Given the description of an element on the screen output the (x, y) to click on. 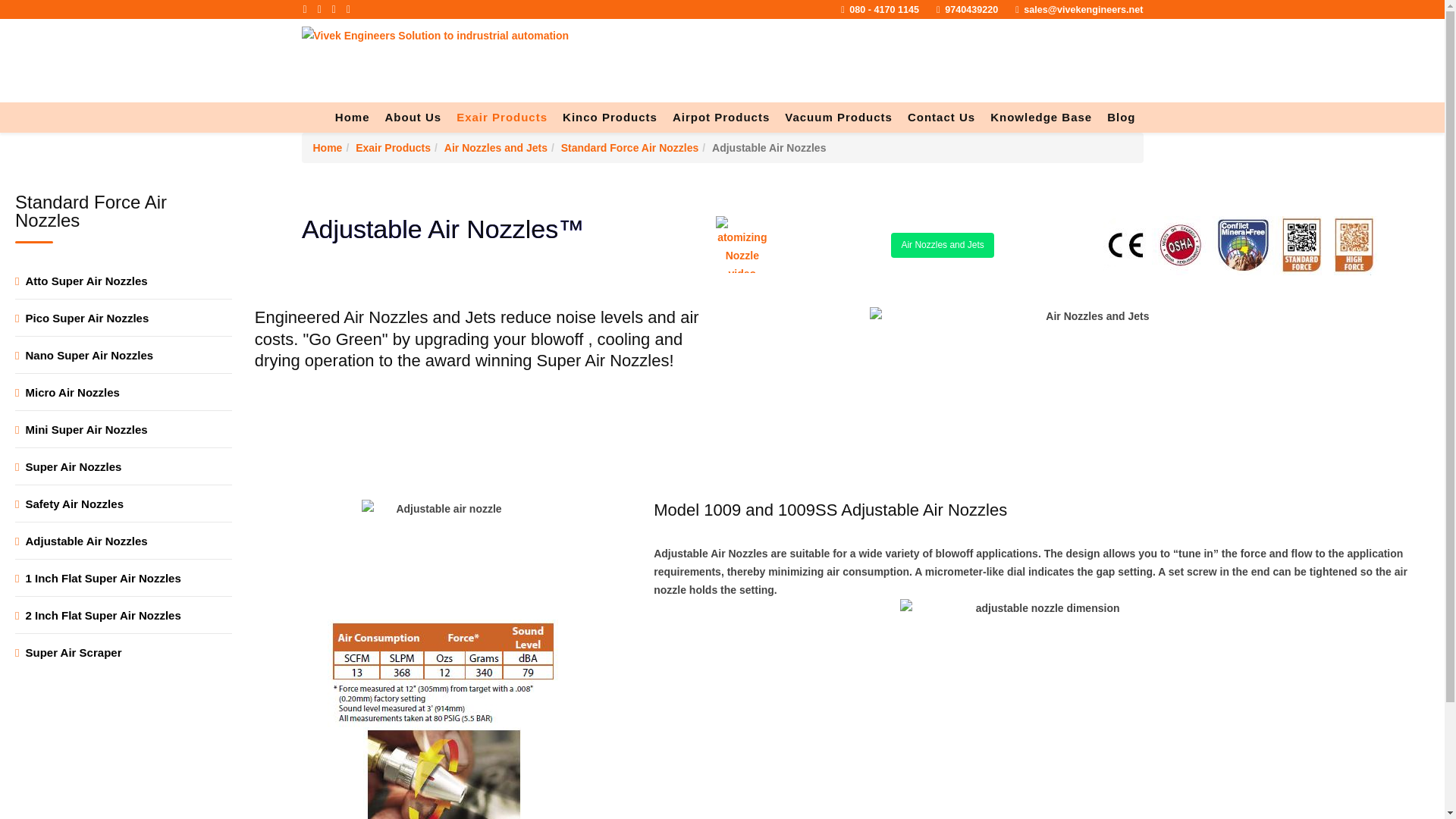
080 - 4170 1145 (883, 9)
About Us (413, 117)
Home (352, 117)
Exair Products (501, 117)
9740439220 (970, 9)
